Given the description of an element on the screen output the (x, y) to click on. 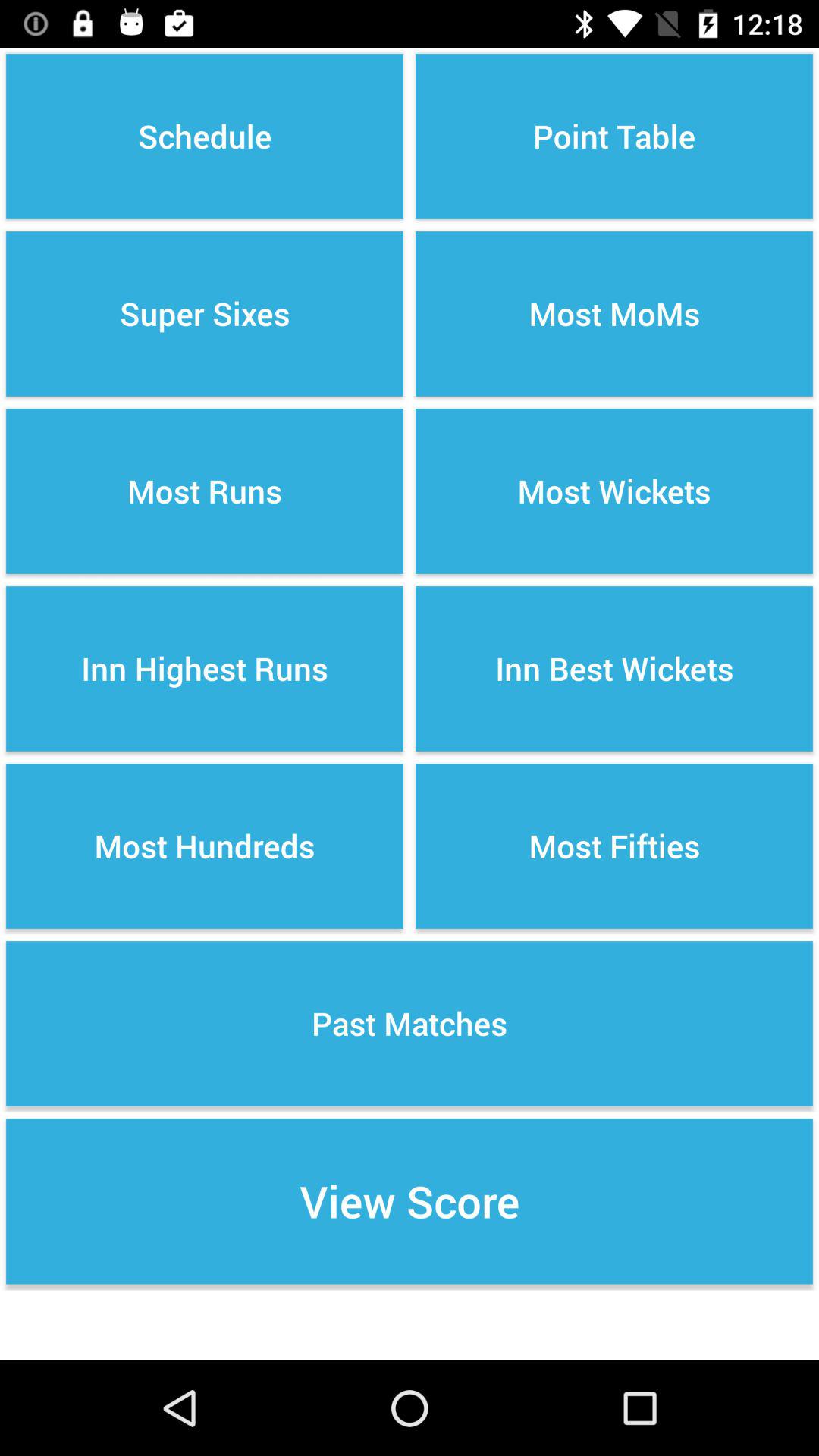
open icon next to the point table (204, 136)
